Given the description of an element on the screen output the (x, y) to click on. 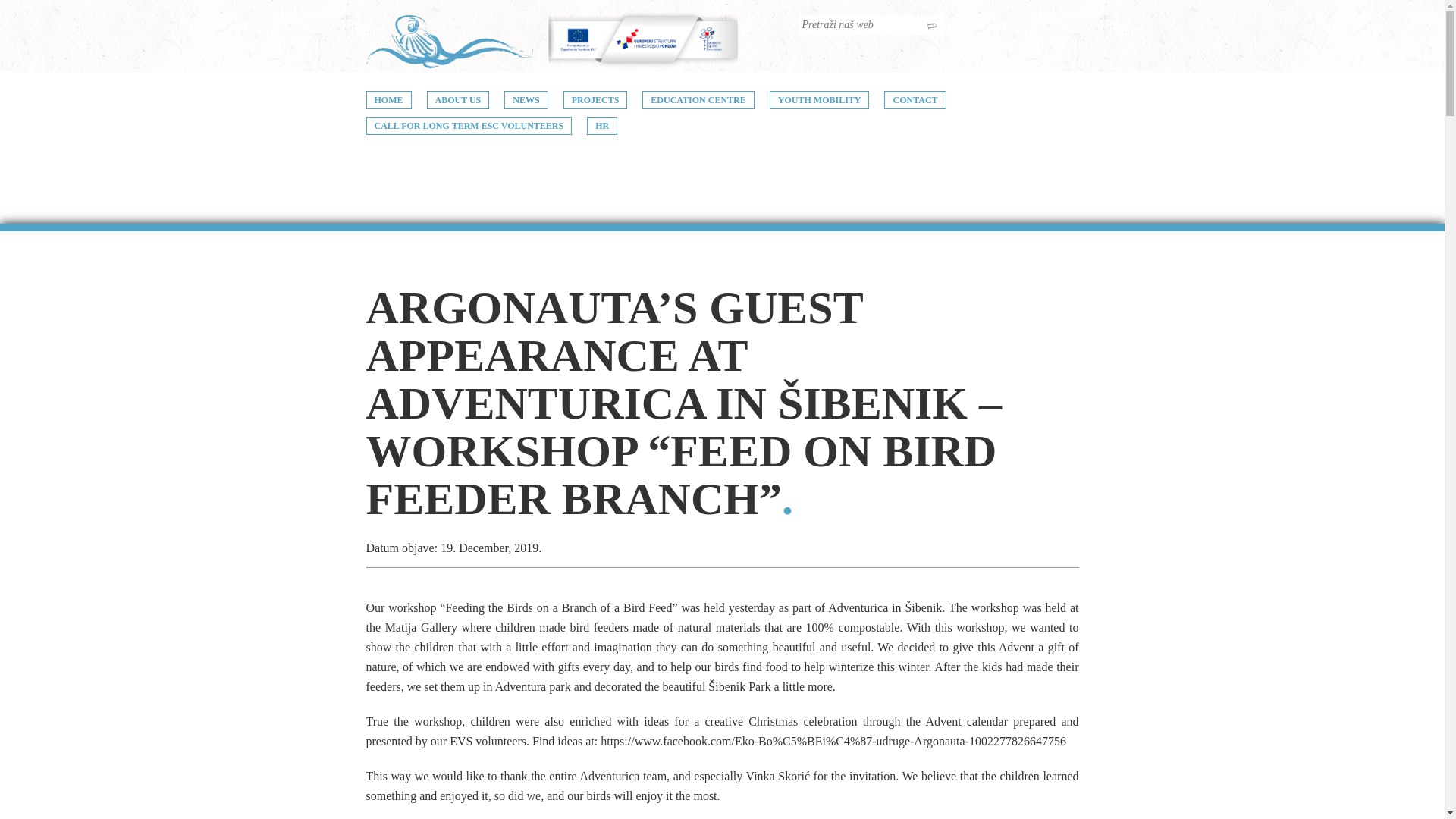
HOME (387, 99)
ABOUT US (457, 99)
NEWS (525, 99)
